Given the description of an element on the screen output the (x, y) to click on. 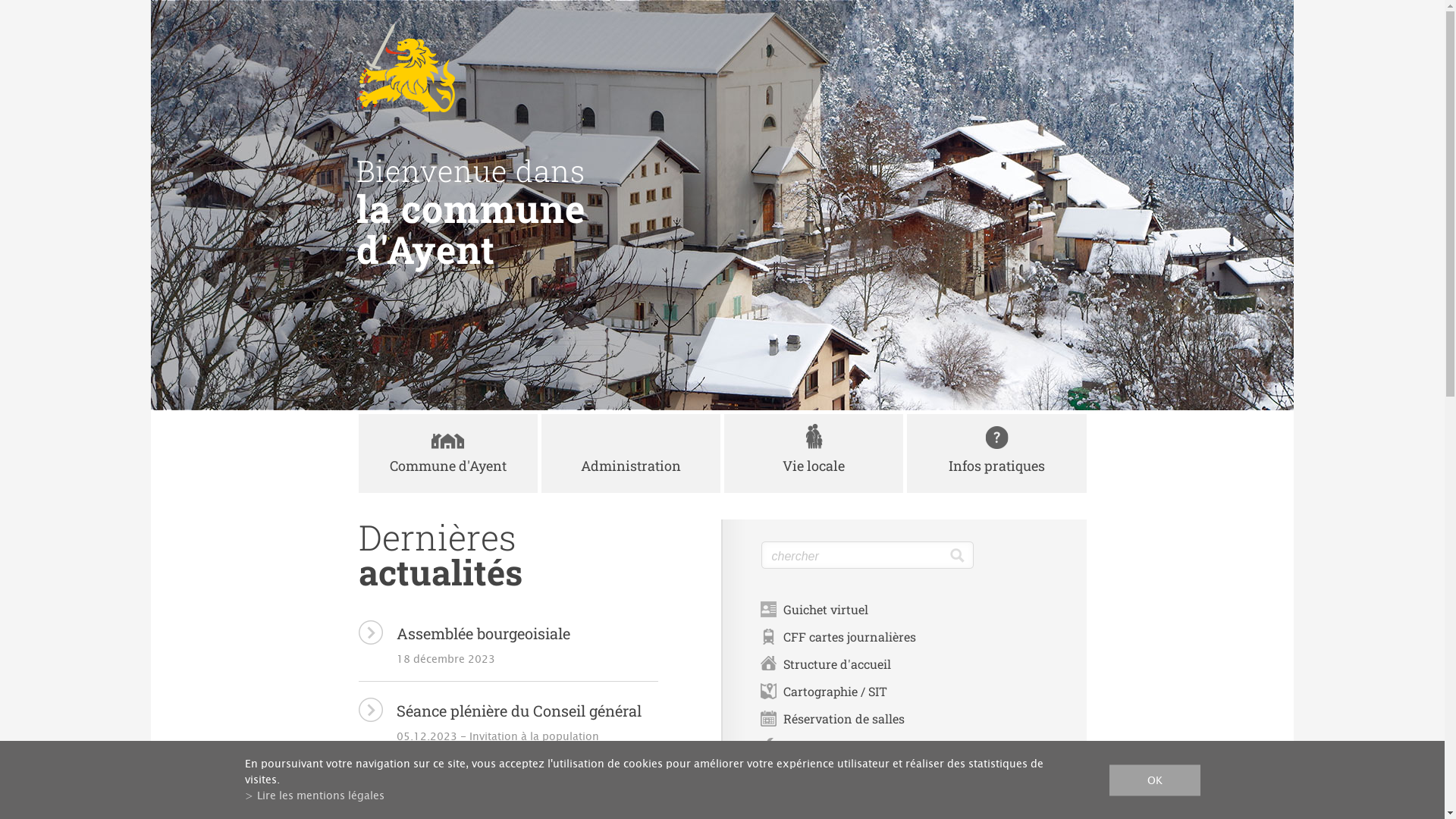
Guichet virtuel Element type: text (824, 609)
Administration Element type: text (630, 453)
Vie locale Element type: text (813, 453)
Infos pratiques Element type: text (995, 453)
OK Element type: text (1153, 779)
Ayent en images Element type: text (830, 773)
Structure d'accueil Element type: text (836, 663)
Service technique Element type: text (832, 745)
Commune d'Ayent Element type: text (446, 453)
Cartographie / SIT Element type: text (834, 691)
Annuaire communal Element type: text (842, 800)
